Given the description of an element on the screen output the (x, y) to click on. 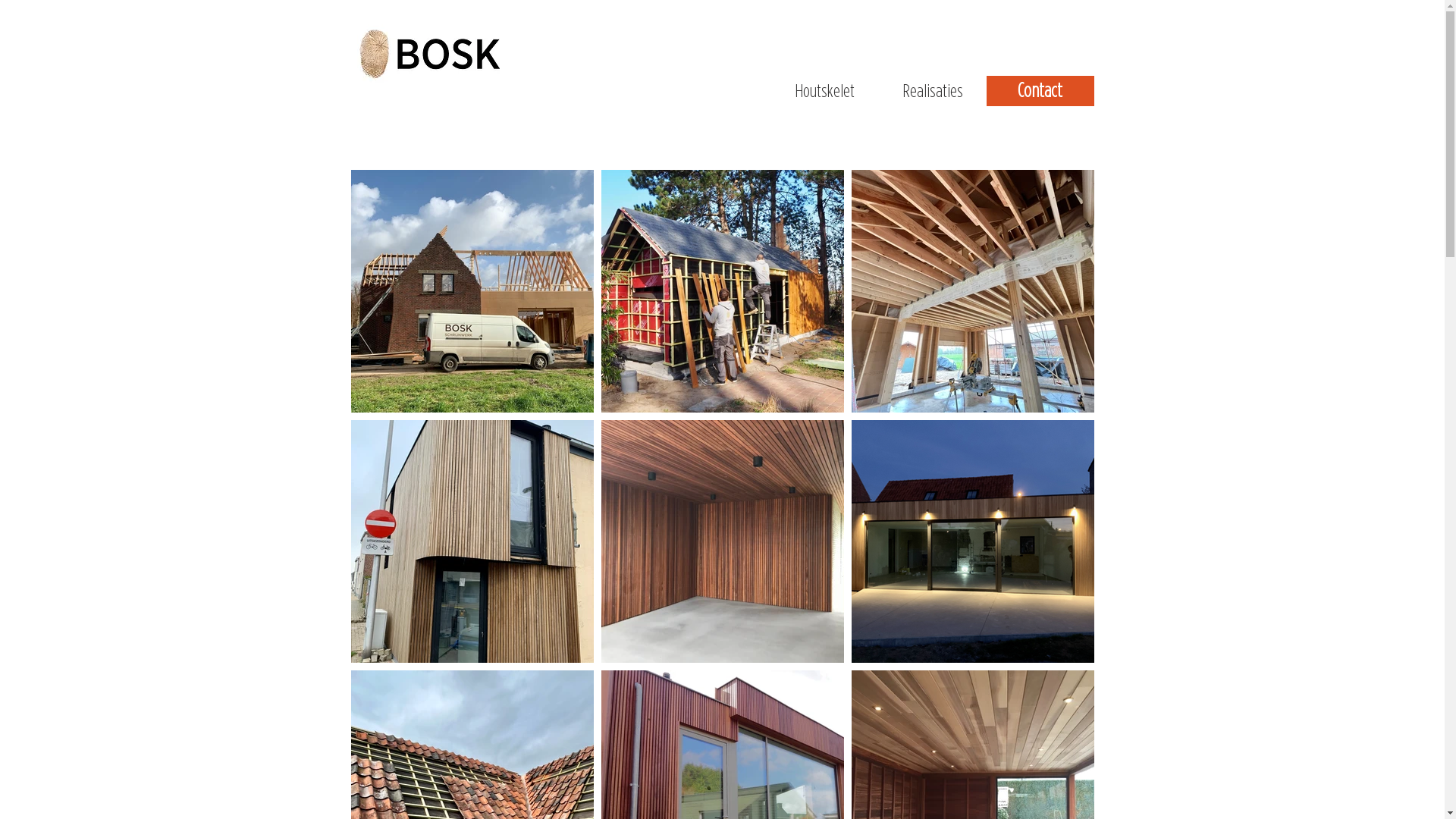
Contact Element type: text (1255, 34)
Contact Element type: text (1039, 90)
Realisaties Element type: text (931, 90)
Houtskelet Element type: text (824, 90)
Home Element type: text (845, 34)
Realisaties Element type: text (1119, 34)
Waarom? Element type: text (978, 34)
